Given the description of an element on the screen output the (x, y) to click on. 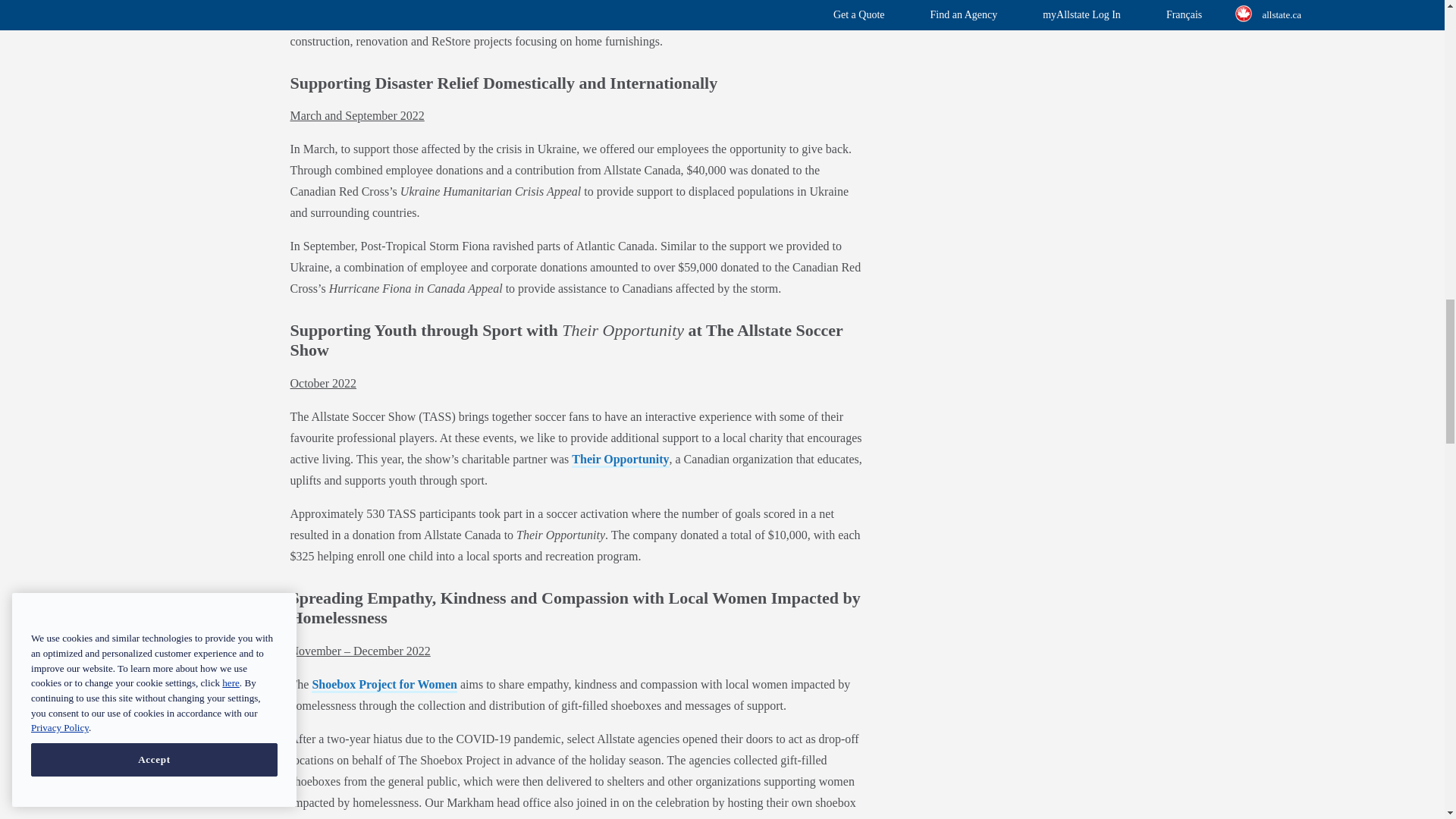
Their Opportunity (620, 459)
Shoebox Project for Women (384, 685)
